Given the description of an element on the screen output the (x, y) to click on. 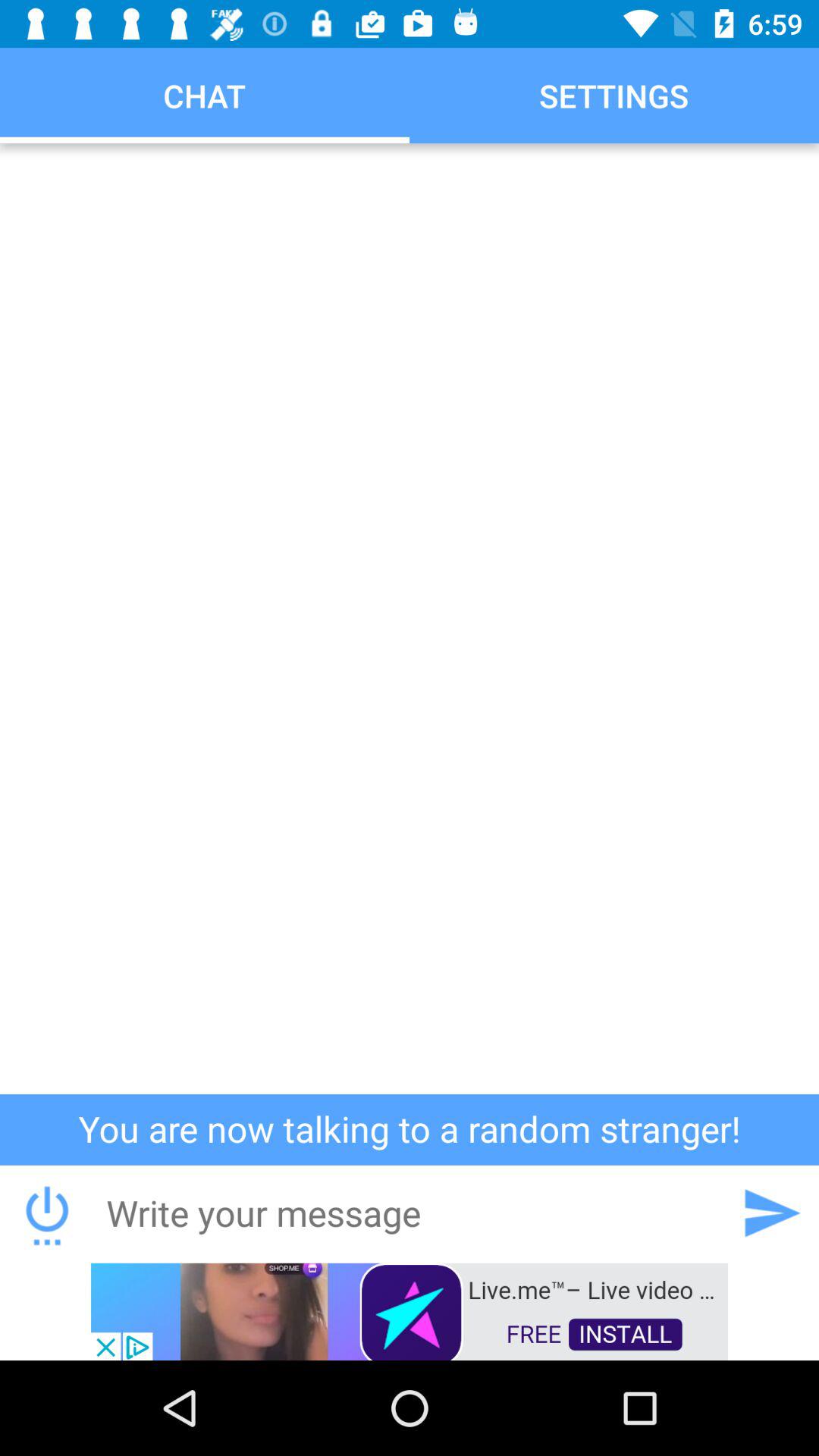
message box (409, 1212)
